Given the description of an element on the screen output the (x, y) to click on. 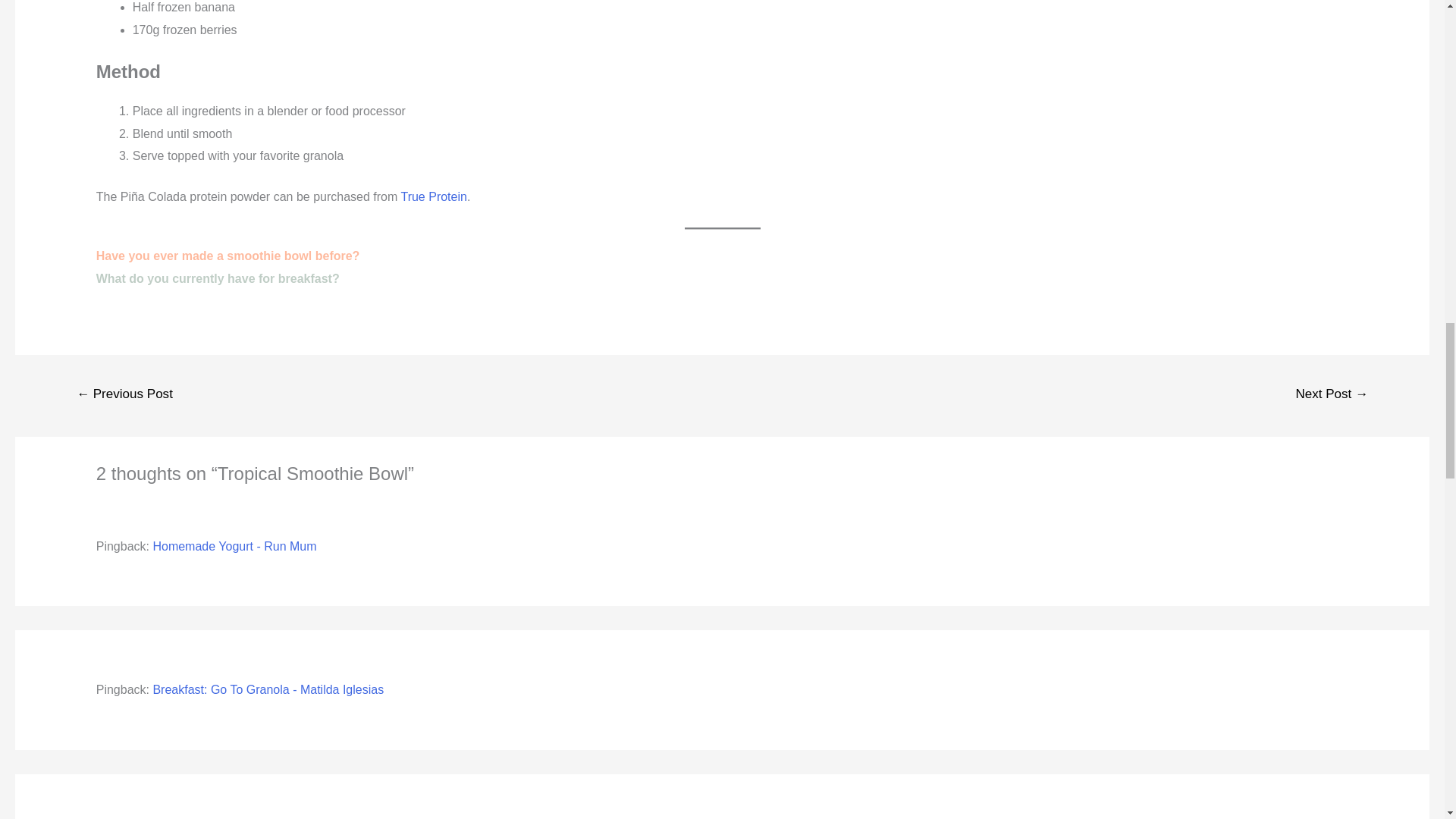
True Protein (432, 196)
Breakfast: Go To Granola - Matilda Iglesias (268, 689)
Homemade Yogurt - Run Mum (233, 545)
